Given the description of an element on the screen output the (x, y) to click on. 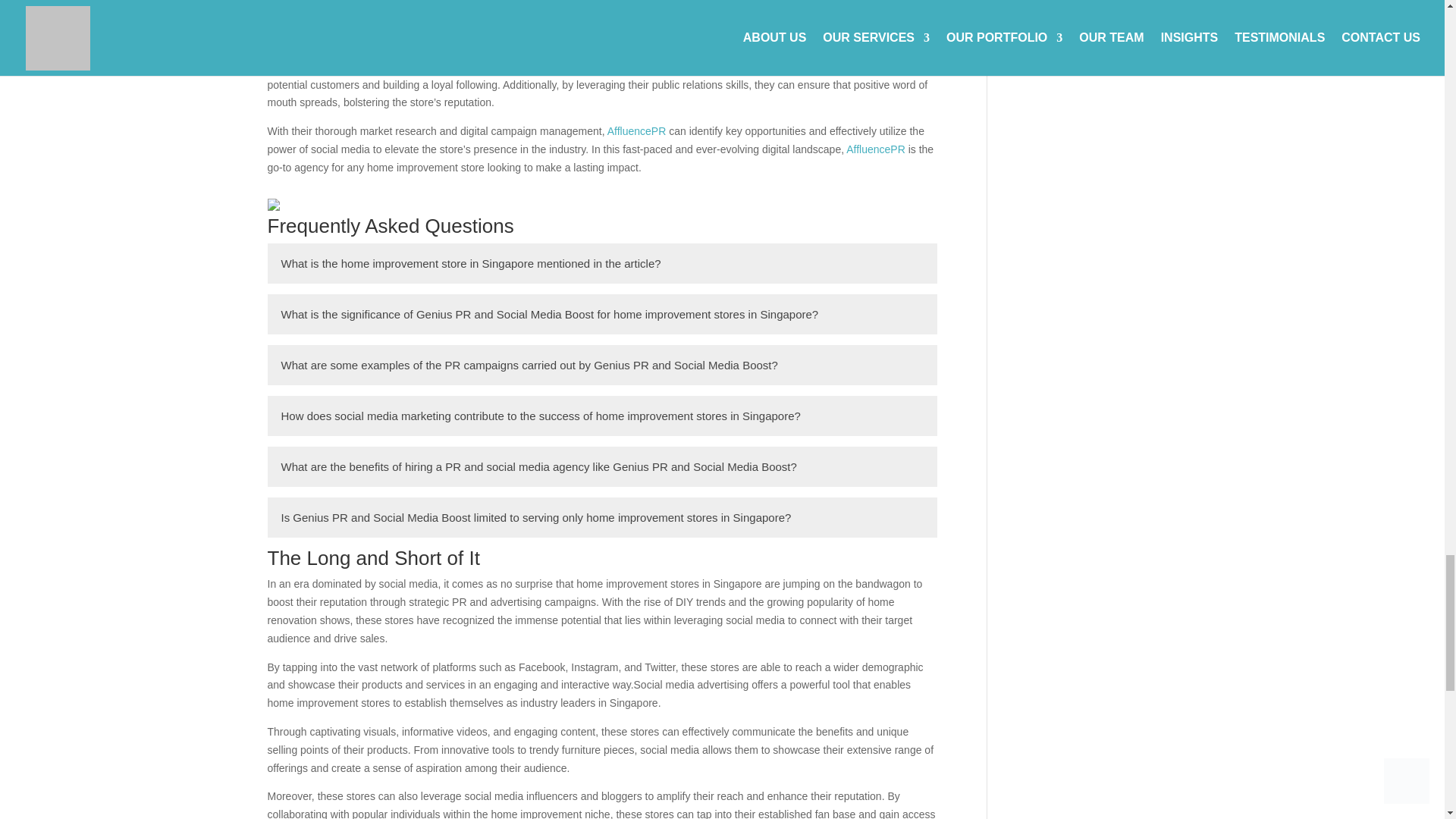
AffluencePR (683, 66)
AffluencePR (361, 19)
AffluencePR (636, 131)
AffluencePR (875, 149)
